Given the description of an element on the screen output the (x, y) to click on. 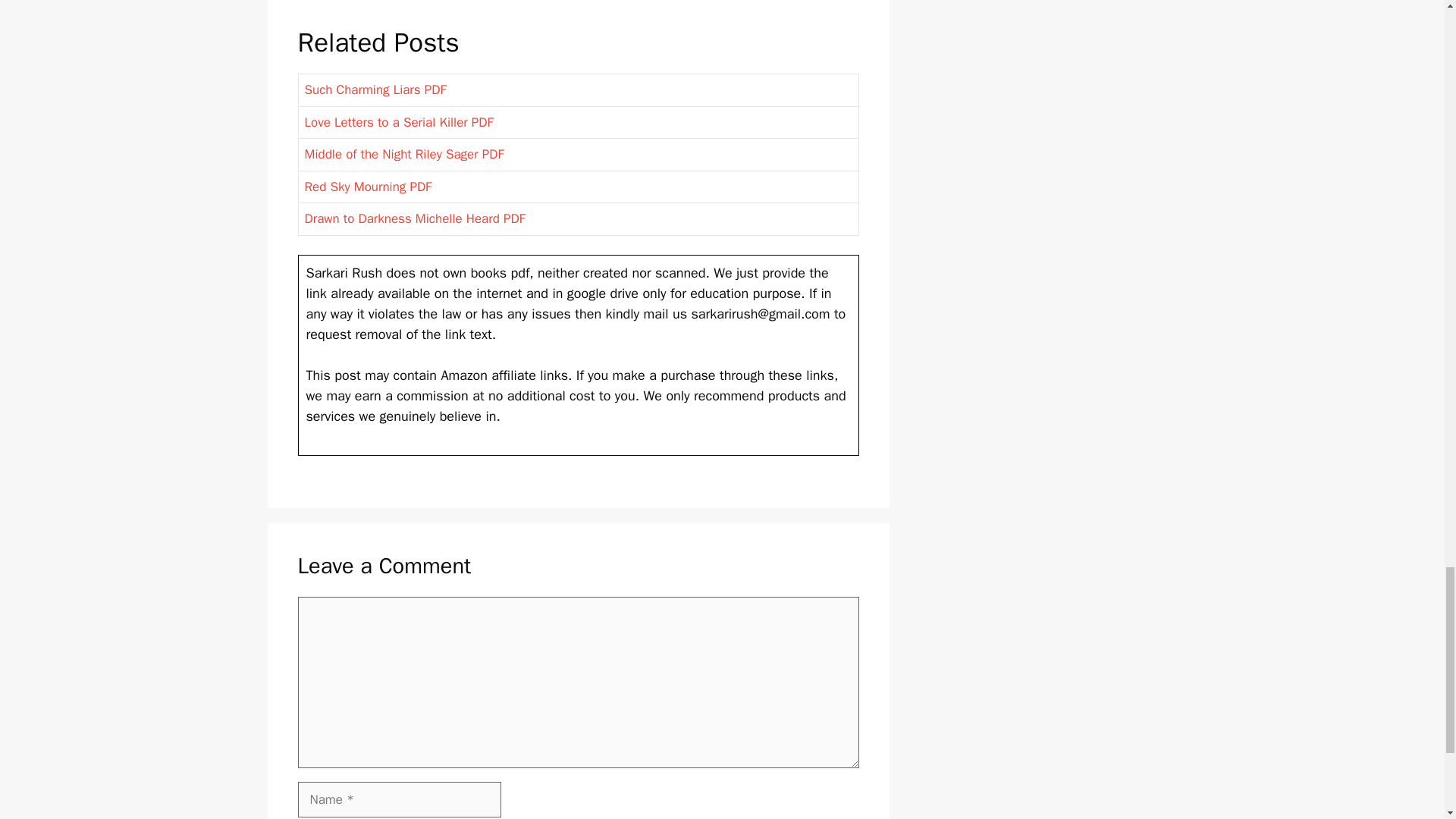
Middle of the Night Riley Sager PDF (403, 154)
Drawn to Darkness Michelle Heard PDF (414, 218)
Red Sky Mourning PDF (368, 186)
Love Letters to a Serial Killer PDF (398, 121)
Such Charming Liars PDF (375, 89)
